Given the description of an element on the screen output the (x, y) to click on. 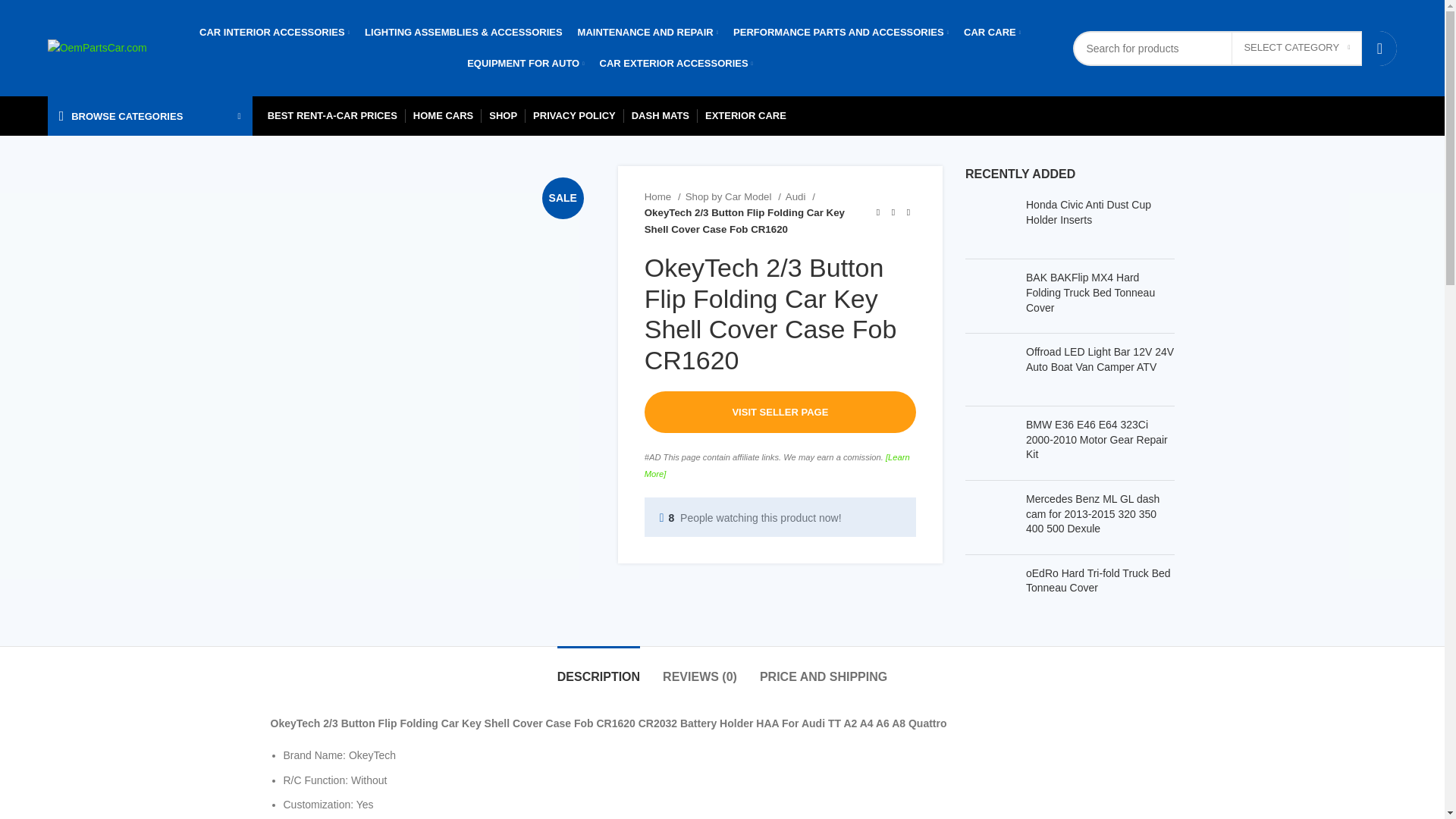
Search for products (1234, 47)
BMW E36 E46 E64 323Ci 2000-2010 Motor Gear Repair Kit (1100, 439)
BAK BAKFlip MX4 Hard Folding Truck Bed Tonneau Cover (989, 296)
SELECT CATEGORY (1296, 47)
MAINTENANCE AND REPAIR (648, 32)
Honda Civic Anti Dust Cup Holder Inserts (1100, 212)
oEdRo Hard Tri-fold Truck Bed Tonneau Cover (1100, 581)
oEdRo Hard Tri-fold Truck Bed Tonneau Cover (989, 590)
PERFORMANCE PARTS AND ACCESSORIES (841, 32)
CAR INTERIOR ACCESSORIES (274, 32)
Without (368, 779)
OkeyTech (372, 755)
Offroad LED Light Bar 12V 24V Auto Boat Van Camper ATV (1100, 359)
